Given the description of an element on the screen output the (x, y) to click on. 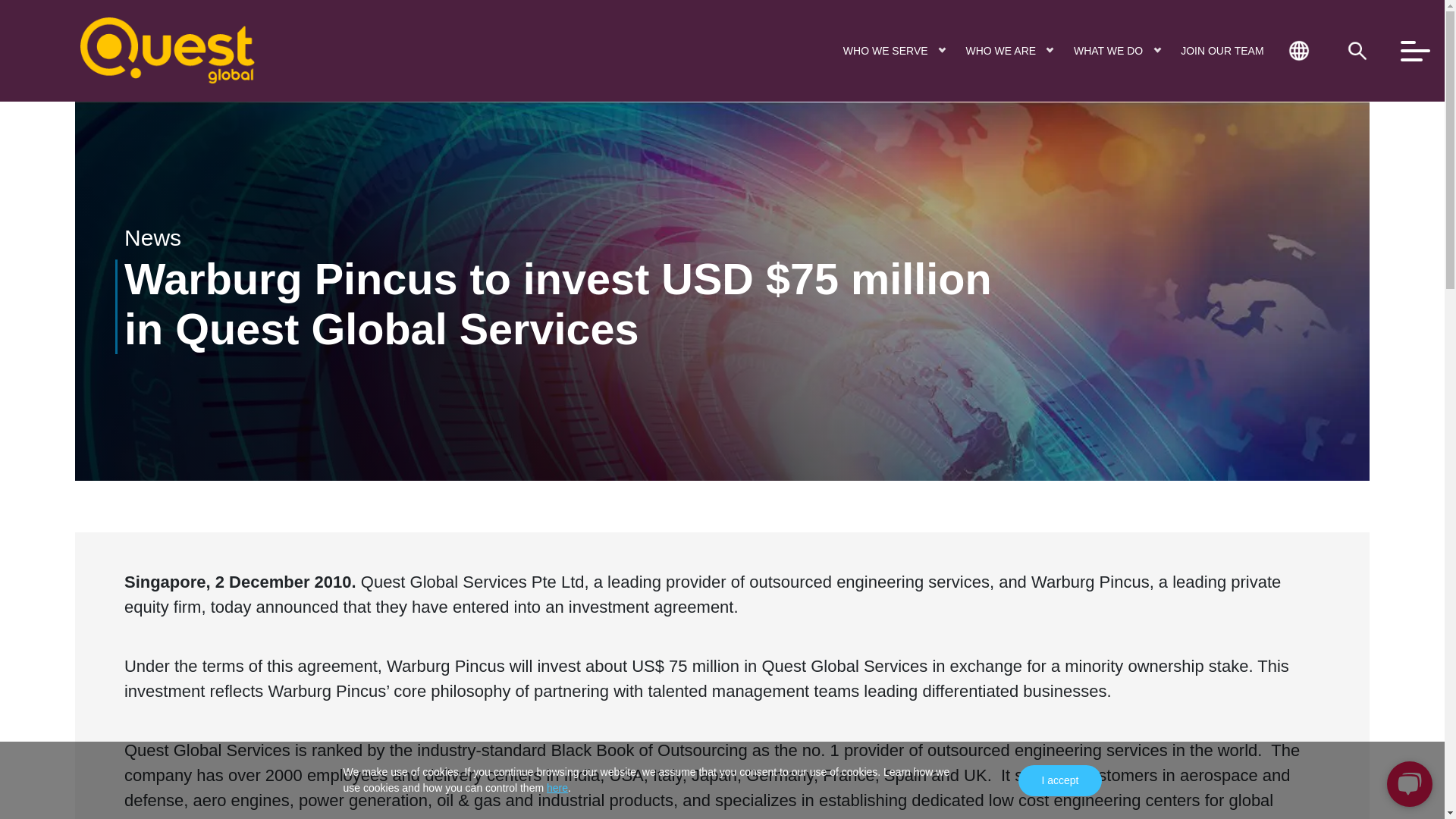
Chat Widget (1406, 782)
